Given the description of an element on the screen output the (x, y) to click on. 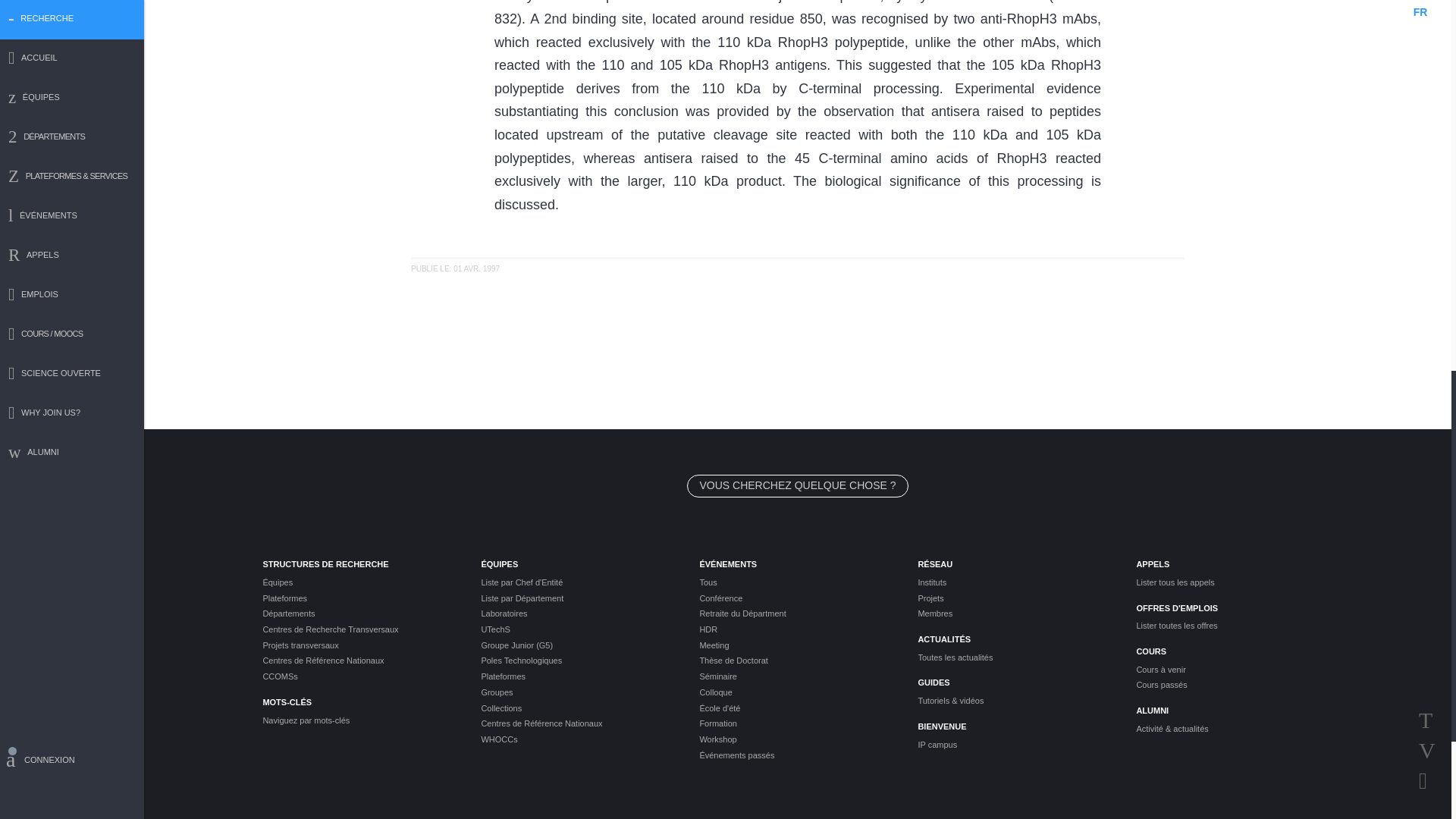
Plateformes (360, 598)
